Given the description of an element on the screen output the (x, y) to click on. 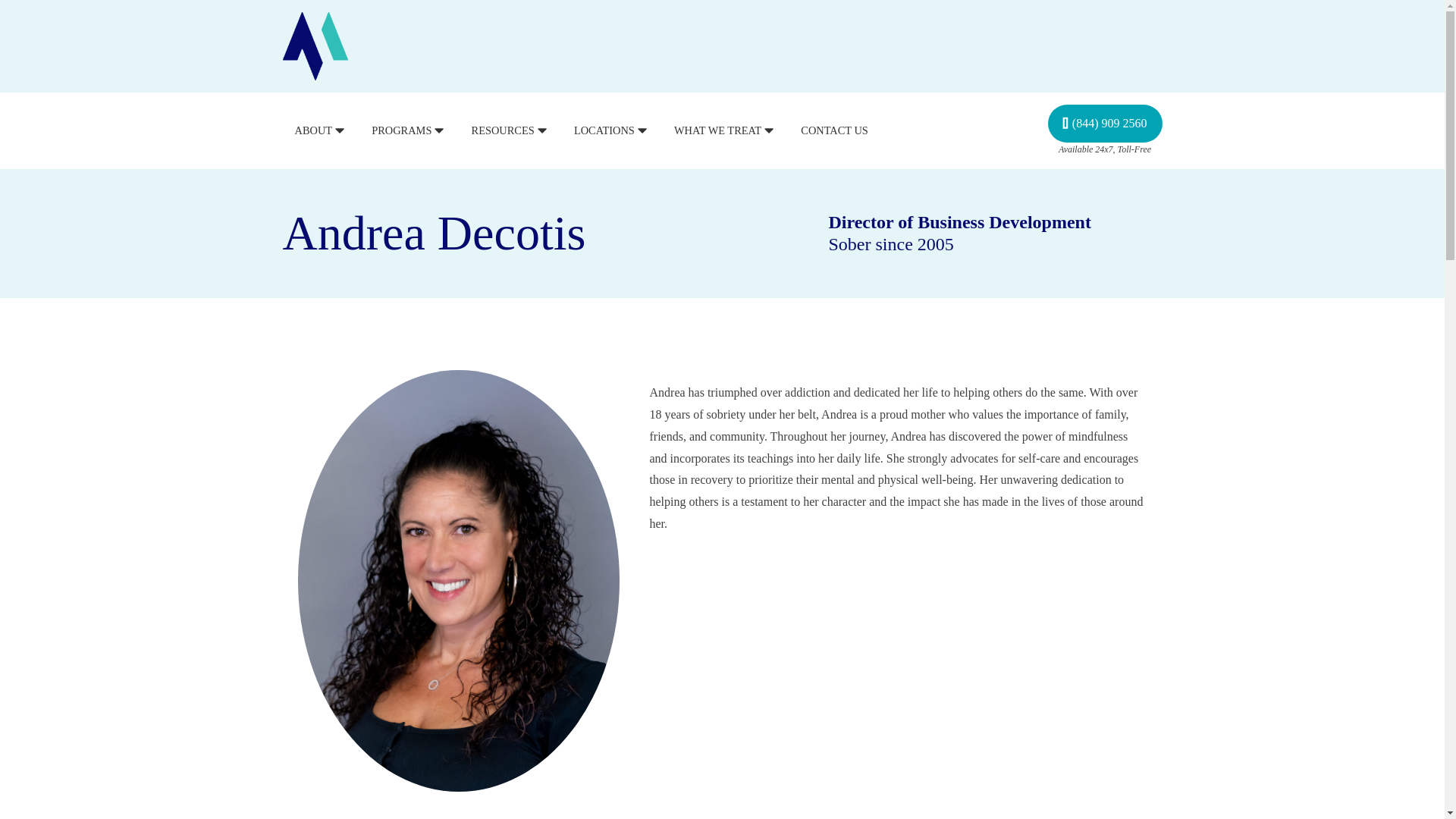
WHAT WE TREAT (725, 130)
ABOUT (320, 130)
LOCATIONS (611, 130)
RESOURCES (510, 130)
PROGRAMS (408, 130)
